Given the description of an element on the screen output the (x, y) to click on. 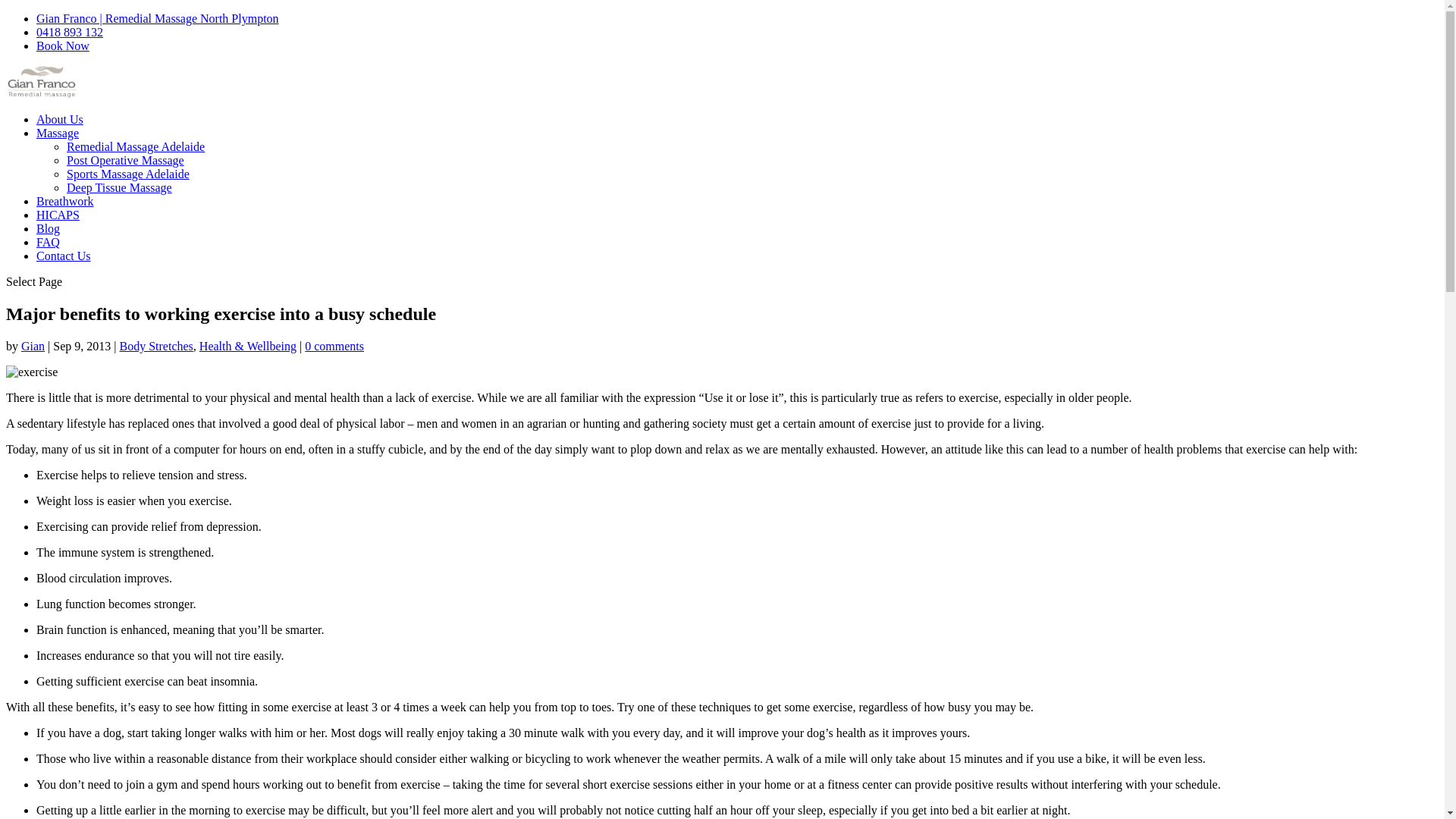
Health & Wellbeing Element type: text (247, 345)
Deep Tissue Massage Element type: text (119, 187)
Remedial Massage Adelaide Element type: text (135, 146)
Blog Element type: text (47, 228)
0418 893 132 Element type: text (69, 31)
Book Now Element type: text (62, 45)
FAQ Element type: text (47, 241)
Body Stretches Element type: text (156, 345)
Massage Element type: text (57, 132)
Gian Element type: text (32, 345)
About Us Element type: text (59, 118)
Sports Massage Adelaide Element type: text (127, 173)
Gian Franco | Remedial Massage North Plympton Element type: text (157, 18)
Post Operative Massage Element type: text (125, 159)
Contact Us Element type: text (63, 255)
Breathwork Element type: text (65, 200)
0 comments Element type: text (334, 345)
HICAPS Element type: text (57, 214)
